Given the description of an element on the screen output the (x, y) to click on. 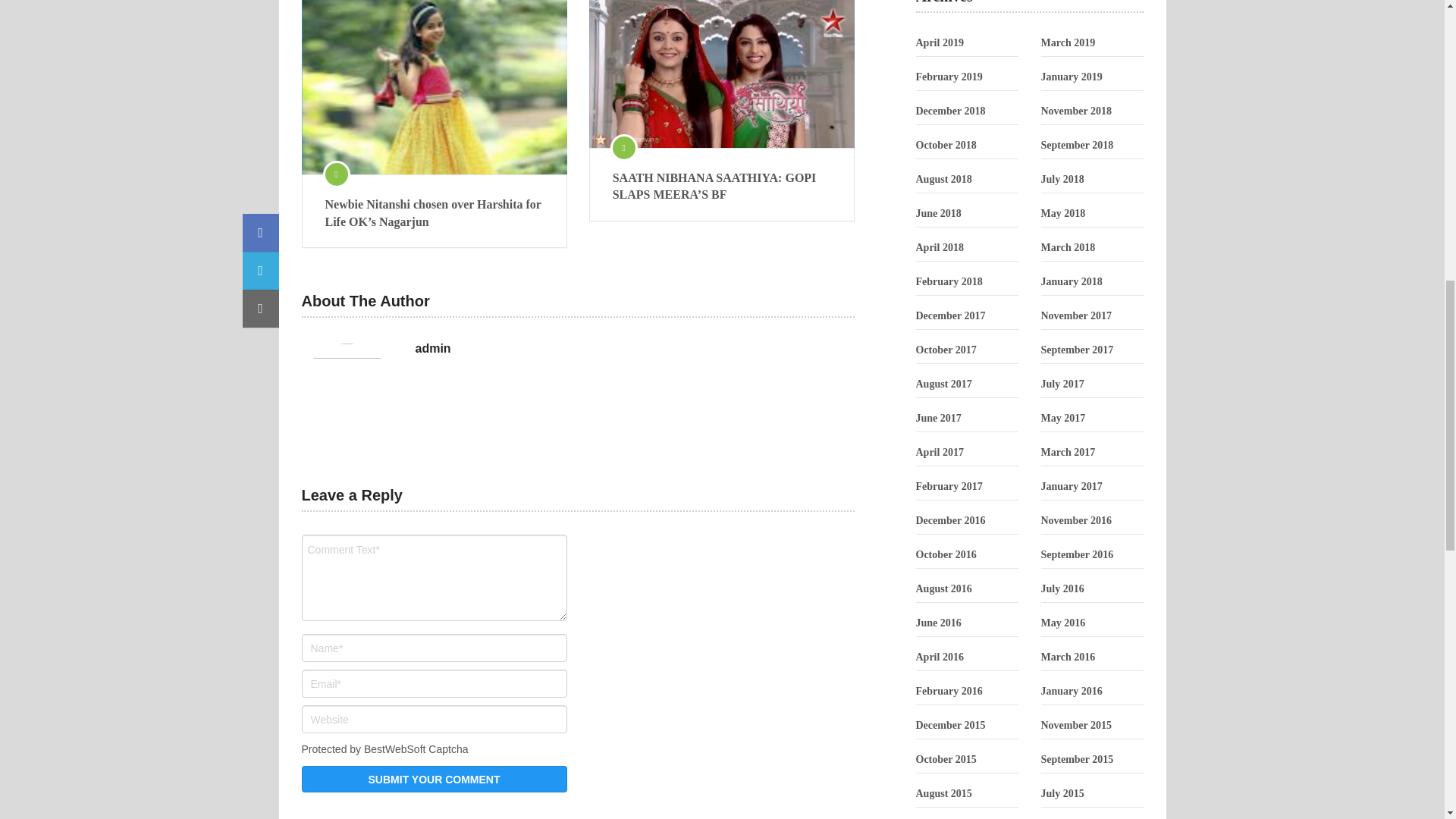
admin (432, 348)
Submit Your Comment (434, 778)
Submit Your Comment (434, 778)
